Given the description of an element on the screen output the (x, y) to click on. 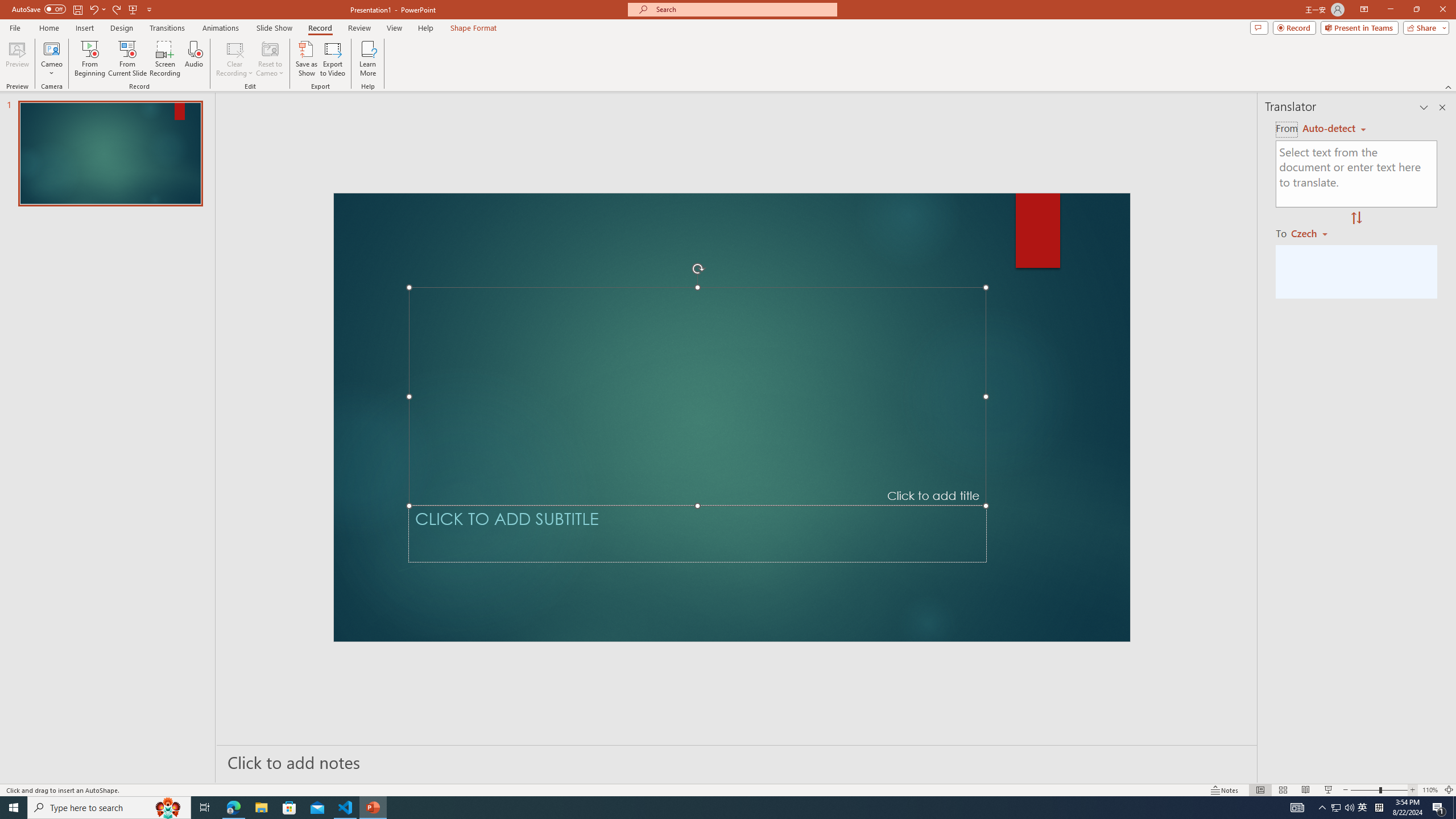
Czech (1313, 232)
Auto-detect (1334, 128)
Zoom 110% (1430, 790)
